Given the description of an element on the screen output the (x, y) to click on. 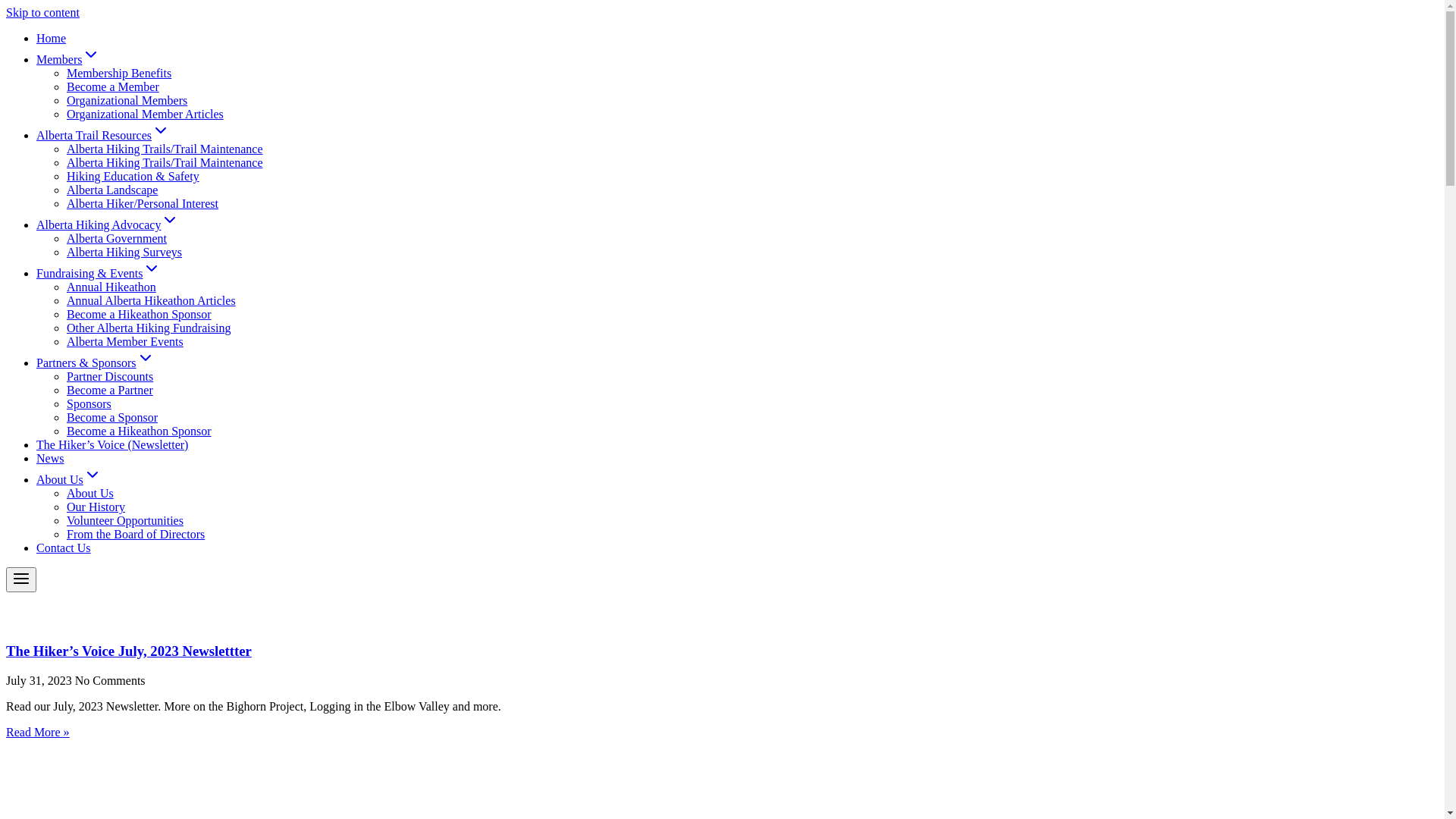
Alberta Hiking Trails/Trail Maintenance Element type: text (164, 162)
Become a Member Element type: text (112, 86)
Contact Us Element type: text (63, 547)
Skip to content Element type: text (42, 12)
Volunteer Opportunities Element type: text (124, 520)
Toggle Menu Element type: text (21, 579)
Organizational Member Articles Element type: text (144, 113)
Alberta Member Events Element type: text (124, 341)
Home Element type: text (50, 37)
Membership Benefits Element type: text (118, 72)
Alberta Hiking Surveys Element type: text (124, 251)
Become a Hikeathon Sponsor Element type: text (138, 313)
Annual Alberta Hikeathon Articles Element type: text (150, 300)
About UsExpand Element type: text (68, 479)
Sponsors Element type: text (88, 403)
Alberta Trail ResourcesExpand Element type: text (102, 134)
Partners & SponsorsExpand Element type: text (95, 362)
Alberta Hiking Trails/Trail Maintenance Element type: text (164, 148)
Organizational Members Element type: text (126, 100)
Become a Sponsor Element type: text (111, 417)
Alberta Landscape Element type: text (111, 189)
Become a Partner Element type: text (109, 389)
MembersExpand Element type: text (68, 59)
Alberta Hiker/Personal Interest Element type: text (142, 203)
Alberta Hiking AdvocacyExpand Element type: text (107, 224)
Our History Element type: text (95, 506)
Partner Discounts Element type: text (109, 376)
Hiking Education & Safety Element type: text (132, 175)
Annual Hikeathon Element type: text (111, 286)
About Us Element type: text (89, 492)
Become a Hikeathon Sponsor Element type: text (138, 430)
From the Board of Directors Element type: text (135, 533)
News Element type: text (49, 457)
Fundraising & EventsExpand Element type: text (98, 272)
Alberta Government Element type: text (116, 238)
Other Alberta Hiking Fundraising Element type: text (148, 327)
